Given the description of an element on the screen output the (x, y) to click on. 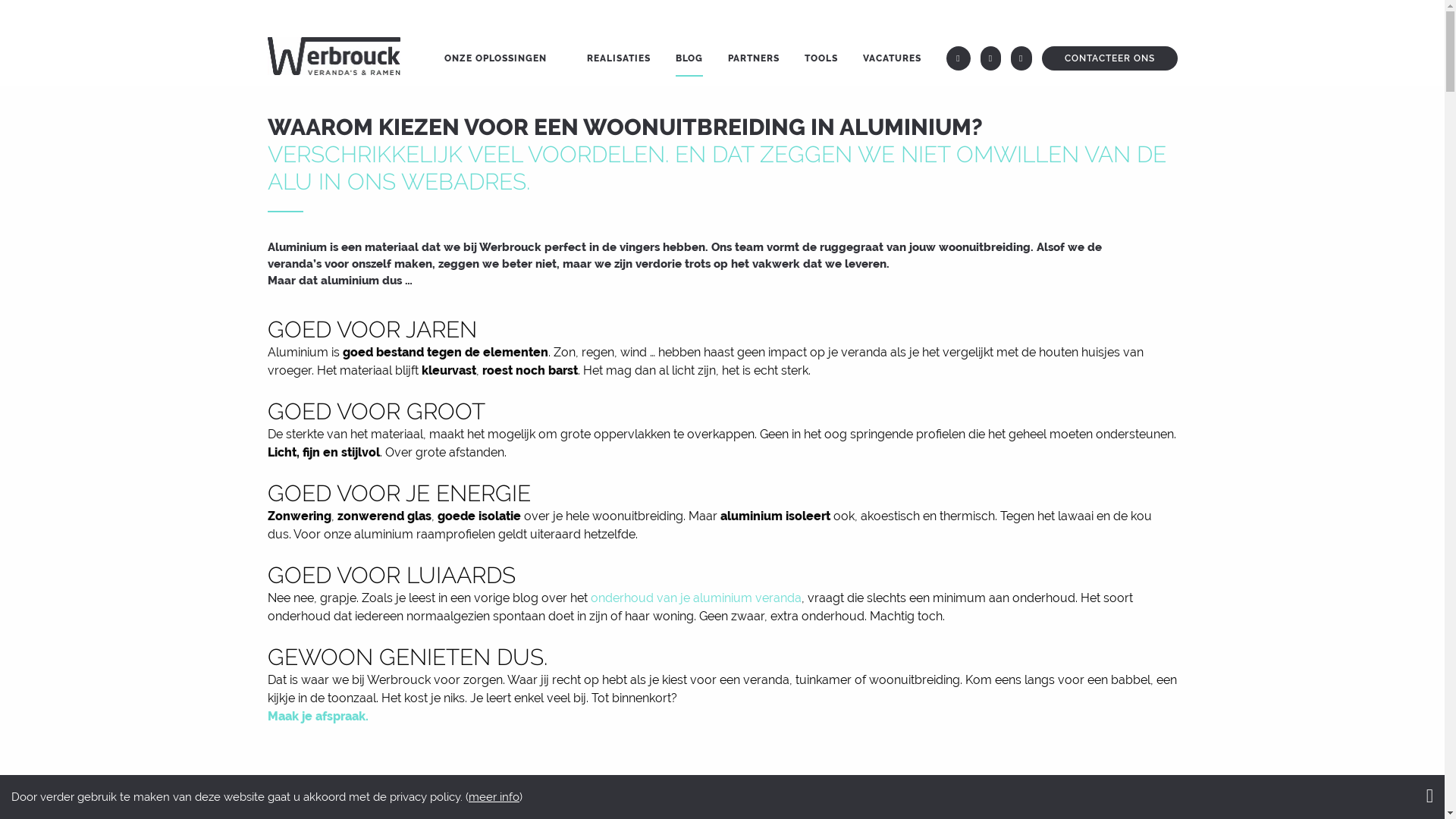
Maak je afspraak. Element type: text (316, 716)
meer info Element type: text (493, 796)
BLOG Element type: text (688, 59)
TOOLS Element type: text (820, 59)
onderhoud van je aluminium veranda Element type: text (694, 597)
PARTNERS Element type: text (753, 59)
CONTACTEER ONS Element type: text (1109, 58)
REALISATIES Element type: text (618, 59)
VACATURES Element type: text (891, 59)
